Given the description of an element on the screen output the (x, y) to click on. 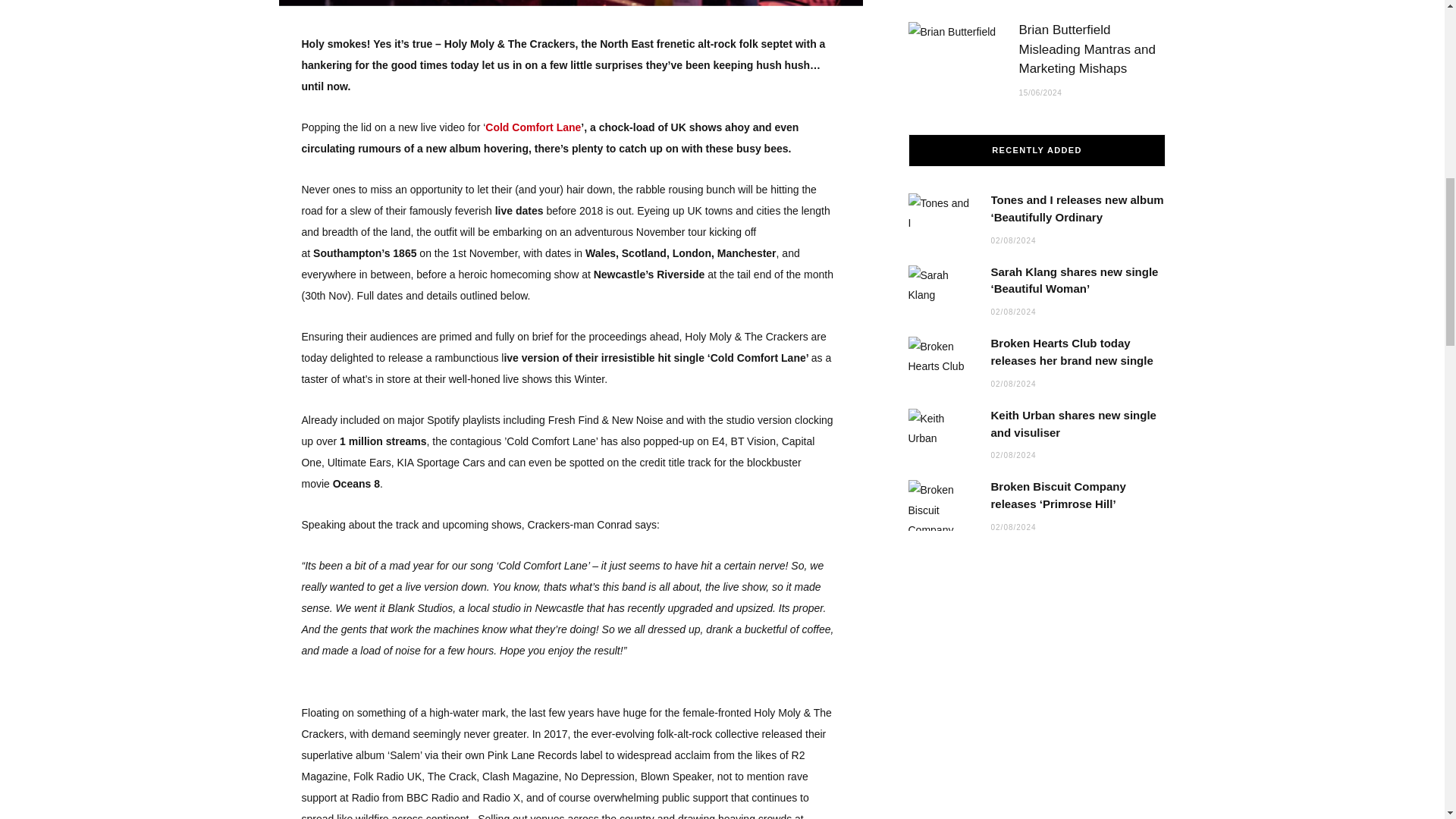
Cold Comfort Lane (532, 127)
